Given the description of an element on the screen output the (x, y) to click on. 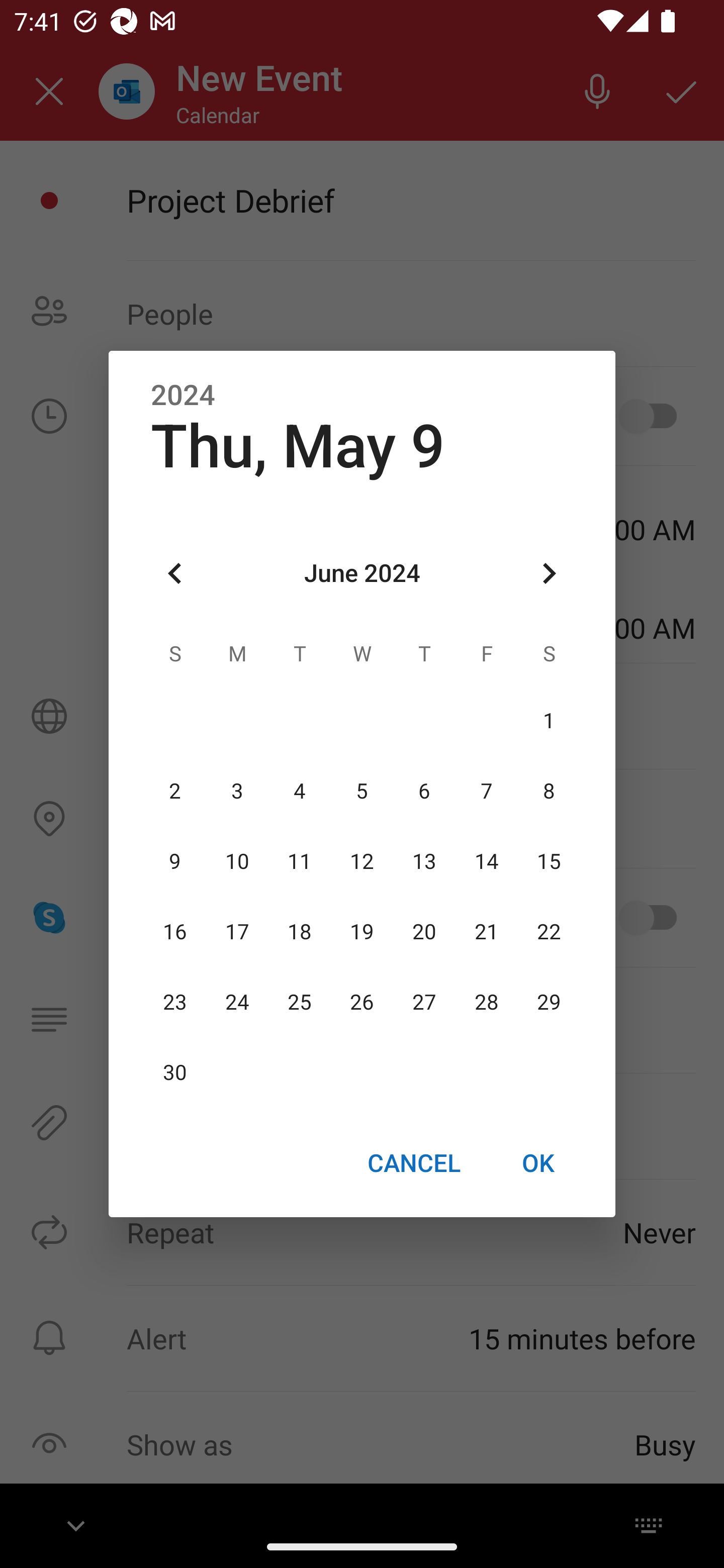
2024 (182, 395)
Thu, May 9 (297, 446)
Previous month (174, 573)
Next month (548, 573)
1 01 June 2024 (548, 720)
2 02 June 2024 (175, 790)
3 03 June 2024 (237, 790)
4 04 June 2024 (299, 790)
5 05 June 2024 (361, 790)
6 06 June 2024 (424, 790)
7 07 June 2024 (486, 790)
8 08 June 2024 (548, 790)
9 09 June 2024 (175, 861)
10 10 June 2024 (237, 861)
11 11 June 2024 (299, 861)
12 12 June 2024 (361, 861)
13 13 June 2024 (424, 861)
14 14 June 2024 (486, 861)
15 15 June 2024 (548, 861)
16 16 June 2024 (175, 931)
17 17 June 2024 (237, 931)
18 18 June 2024 (299, 931)
19 19 June 2024 (361, 931)
20 20 June 2024 (424, 931)
21 21 June 2024 (486, 931)
22 22 June 2024 (548, 931)
23 23 June 2024 (175, 1002)
24 24 June 2024 (237, 1002)
25 25 June 2024 (299, 1002)
26 26 June 2024 (361, 1002)
27 27 June 2024 (424, 1002)
28 28 June 2024 (486, 1002)
29 29 June 2024 (548, 1002)
30 30 June 2024 (175, 1073)
CANCEL (413, 1162)
OK (537, 1162)
